Given the description of an element on the screen output the (x, y) to click on. 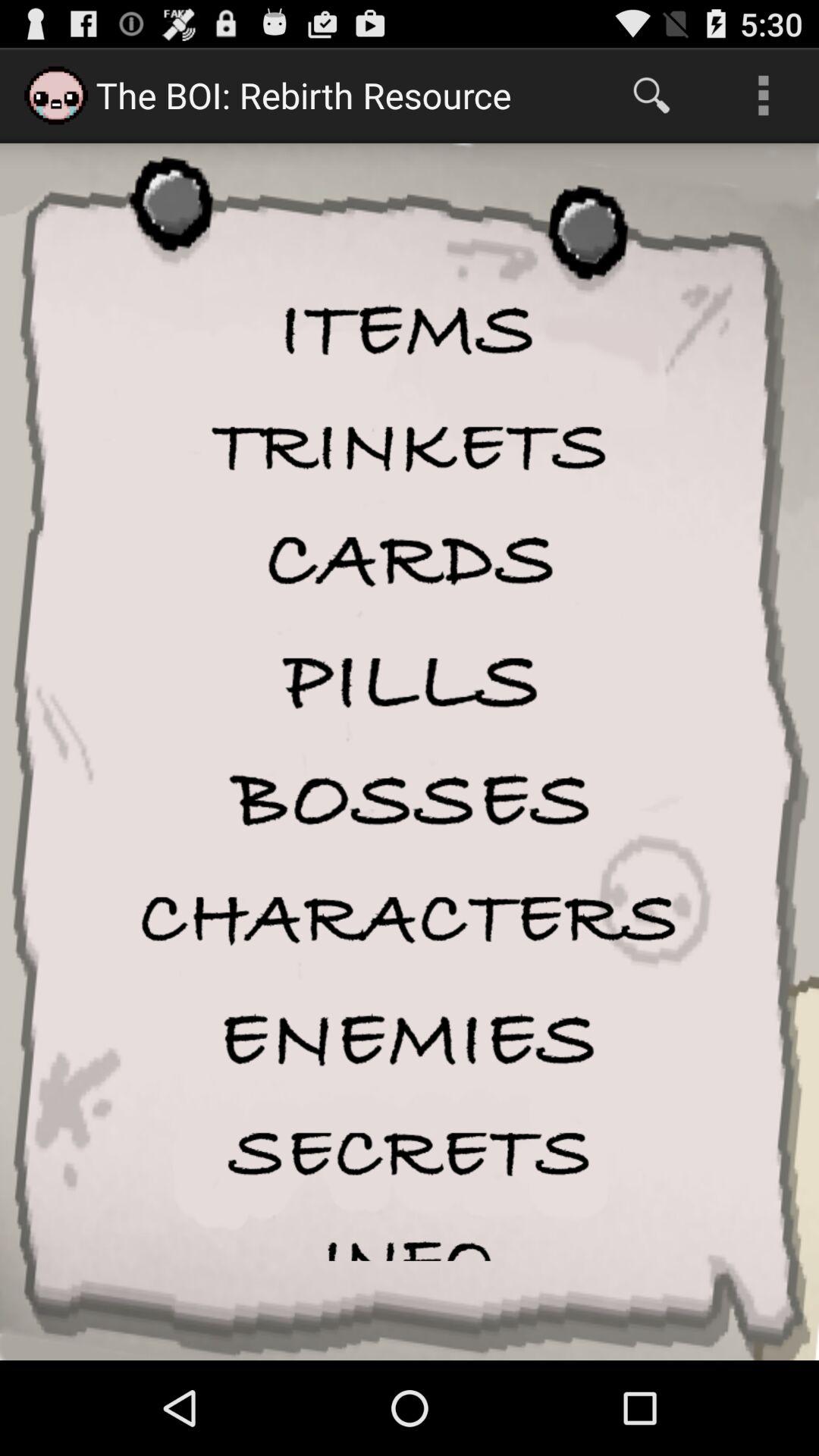
choose the selection (409, 561)
